Given the description of an element on the screen output the (x, y) to click on. 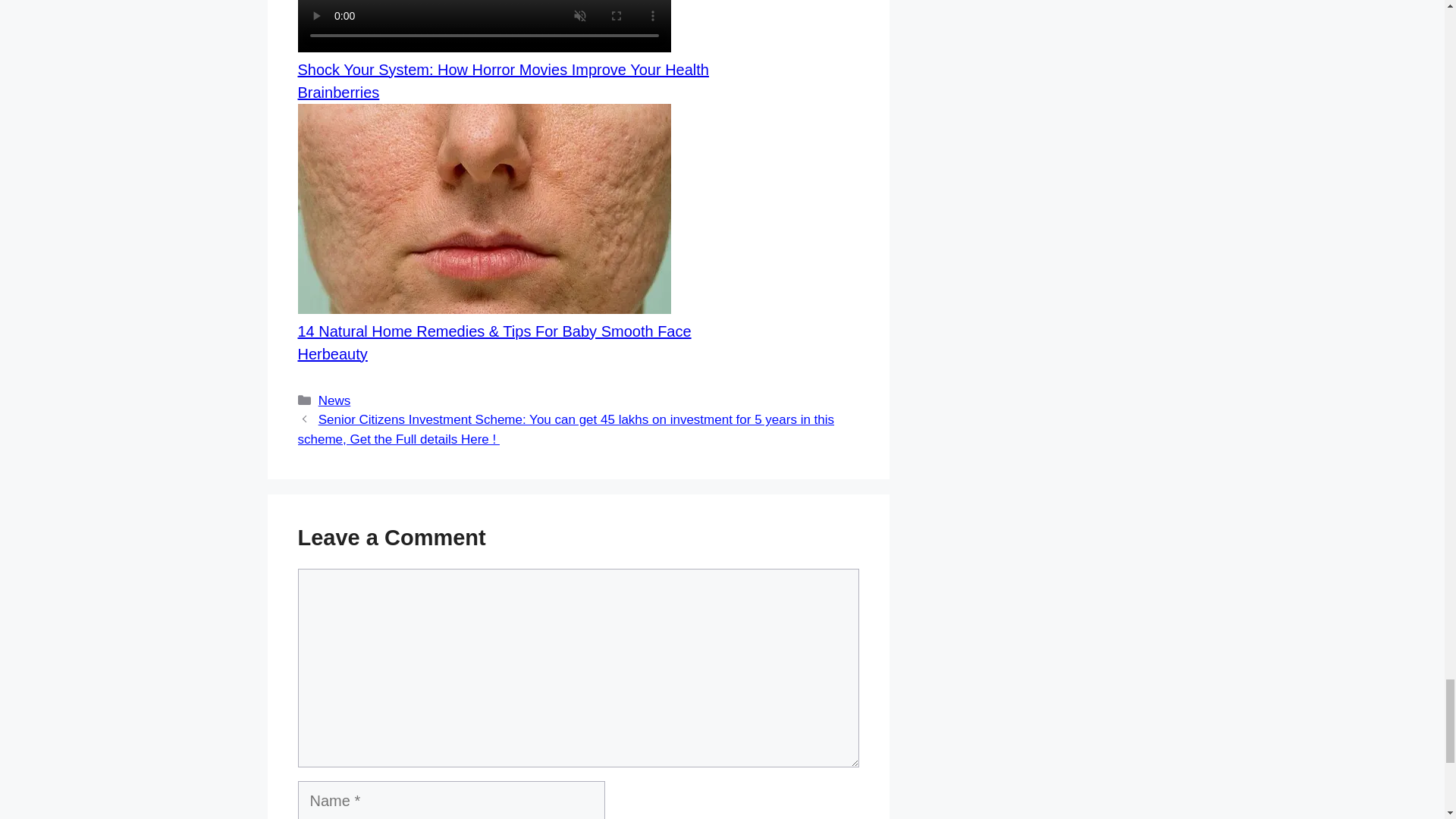
News (334, 400)
